Given the description of an element on the screen output the (x, y) to click on. 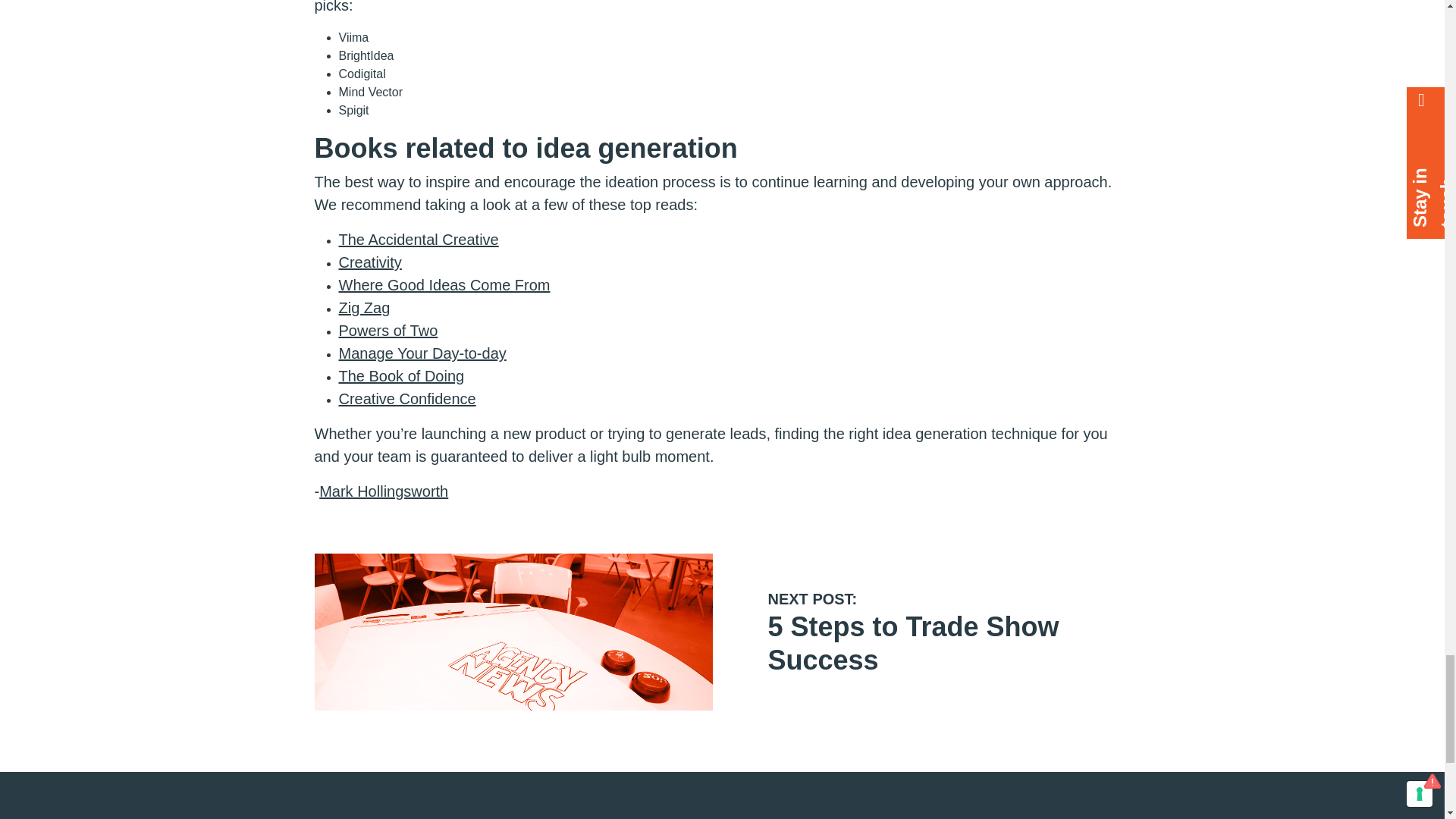
The Book of Doing (400, 375)
Creative Confidence (406, 398)
Where Good Ideas Come From (443, 284)
Mark Hollingsworth (383, 491)
The Accidental Creative (417, 239)
Zig Zag (363, 307)
Powers of Two (912, 630)
Creativity (387, 330)
Manage Your Day-to-day (369, 262)
